Given the description of an element on the screen output the (x, y) to click on. 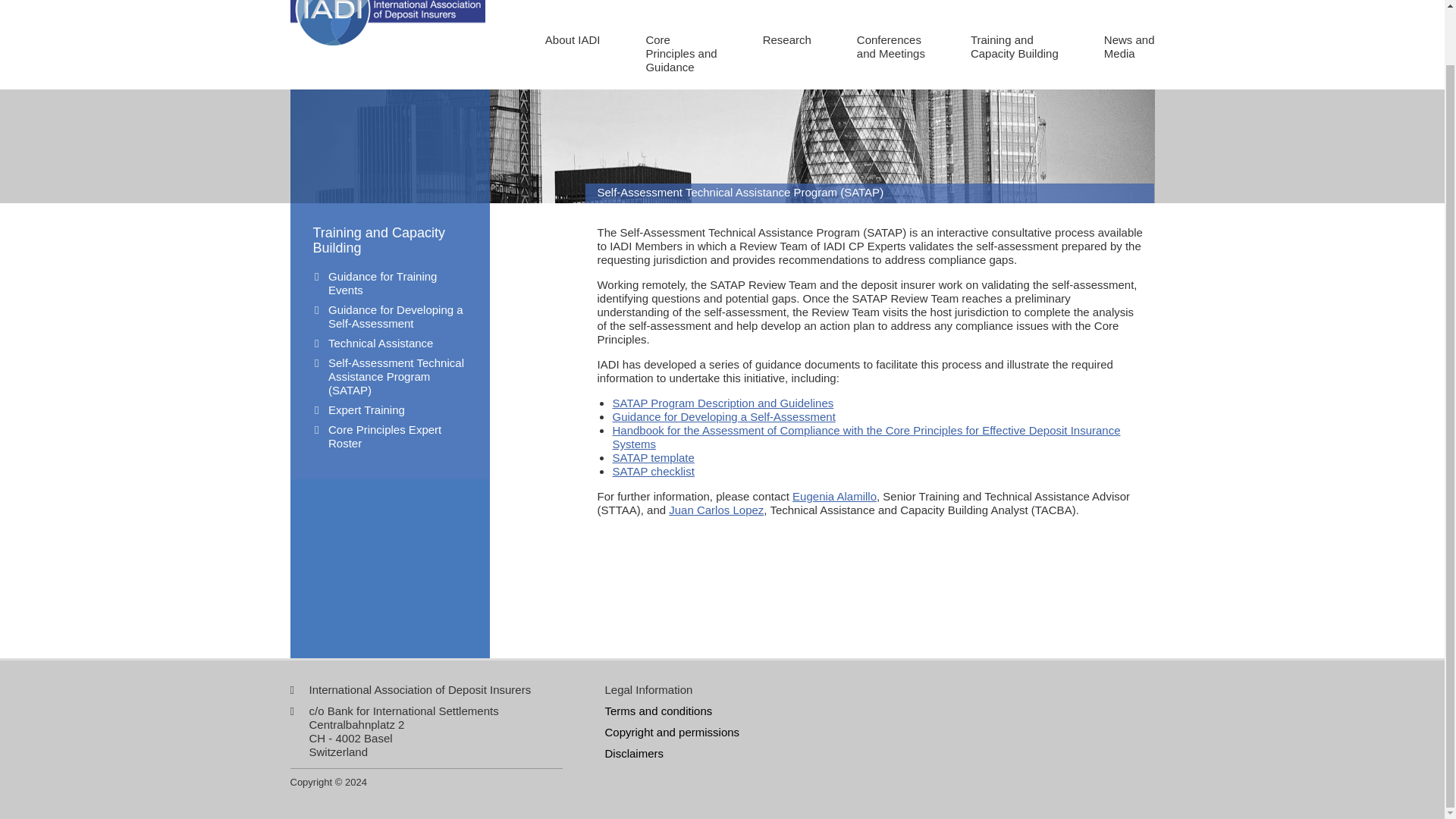
About IADI (680, 53)
